Given the description of an element on the screen output the (x, y) to click on. 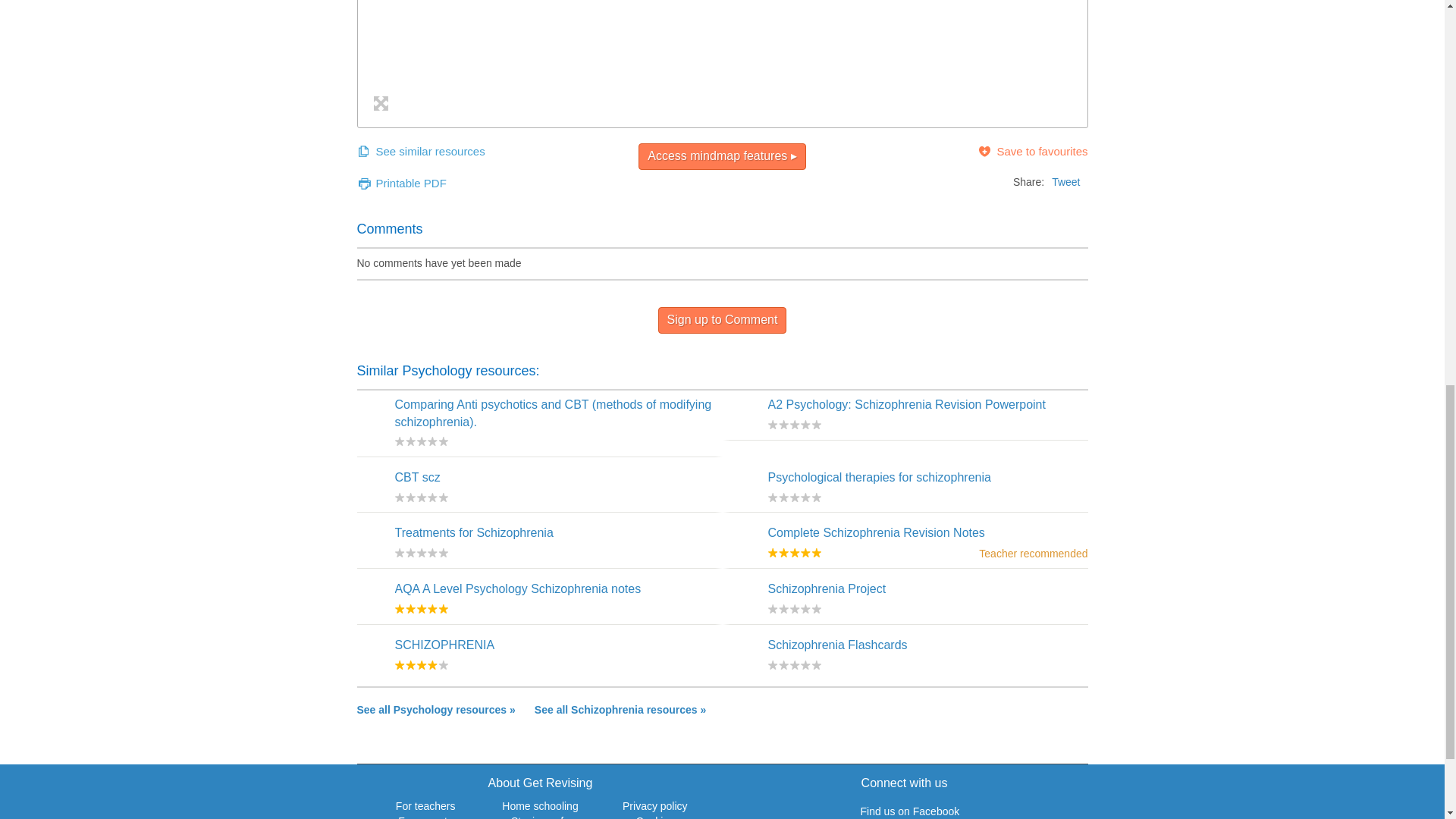
Sign up to Comment (722, 320)
Not rated (420, 552)
A2 Psychology: Schizophrenia Revision Powerpoint (906, 404)
Not rated (794, 497)
Psychological therapies for schizophrenia (878, 477)
Psychology (435, 709)
Access mindmap features (722, 156)
Not rated (794, 608)
Tweet (1065, 182)
Not rated (794, 424)
Save to favourites (1031, 150)
Not rated (420, 440)
CBT scz (416, 477)
See similar resources (420, 150)
Printable PDF (400, 182)
